Given the description of an element on the screen output the (x, y) to click on. 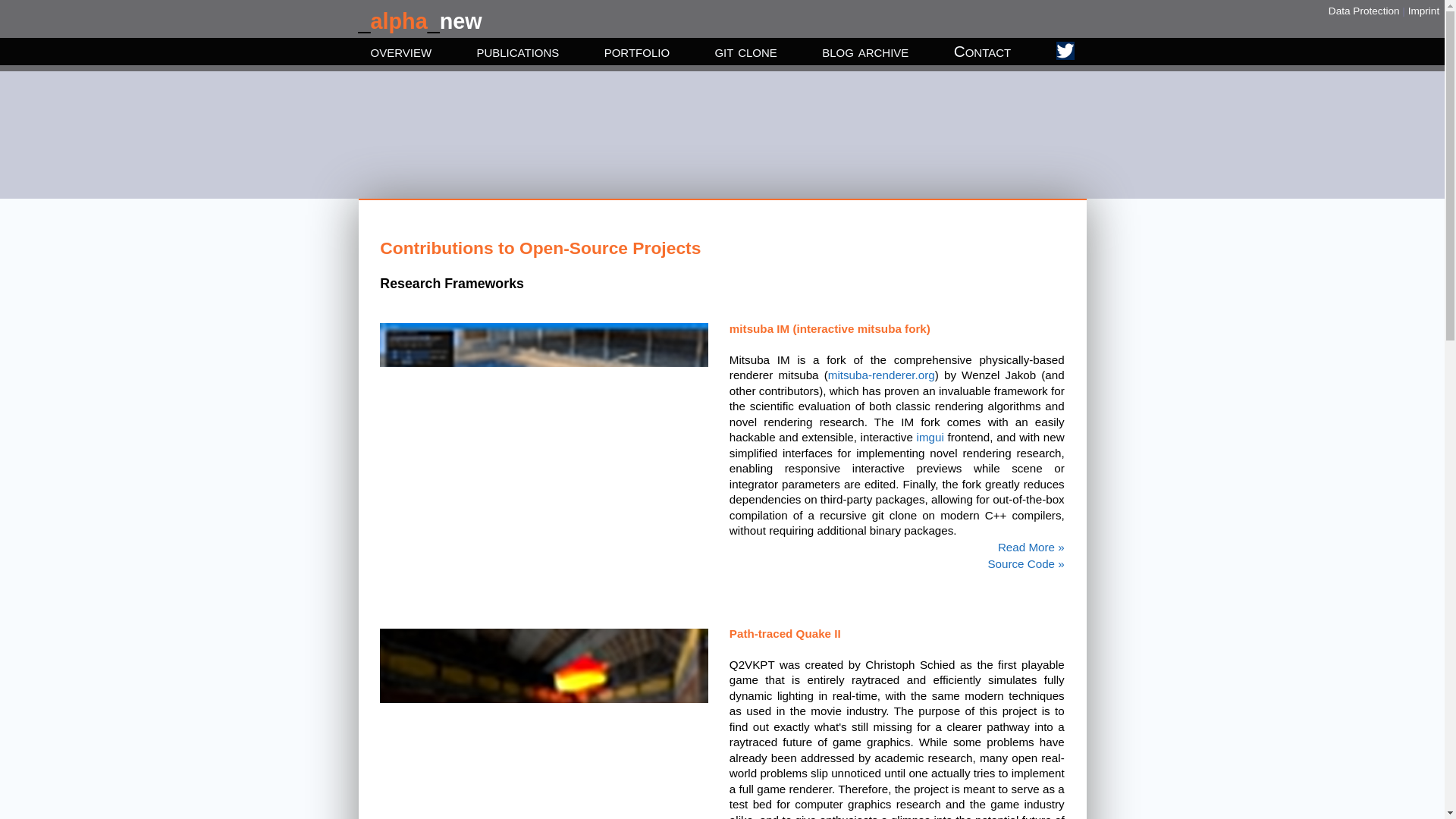
overview (399, 51)
imgui (930, 436)
portfolio (636, 51)
publications (517, 51)
blog archive (865, 51)
Path-traced Quake II (896, 648)
git clone (745, 51)
Contact (982, 51)
mitsuba-renderer.org (881, 374)
